Given the description of an element on the screen output the (x, y) to click on. 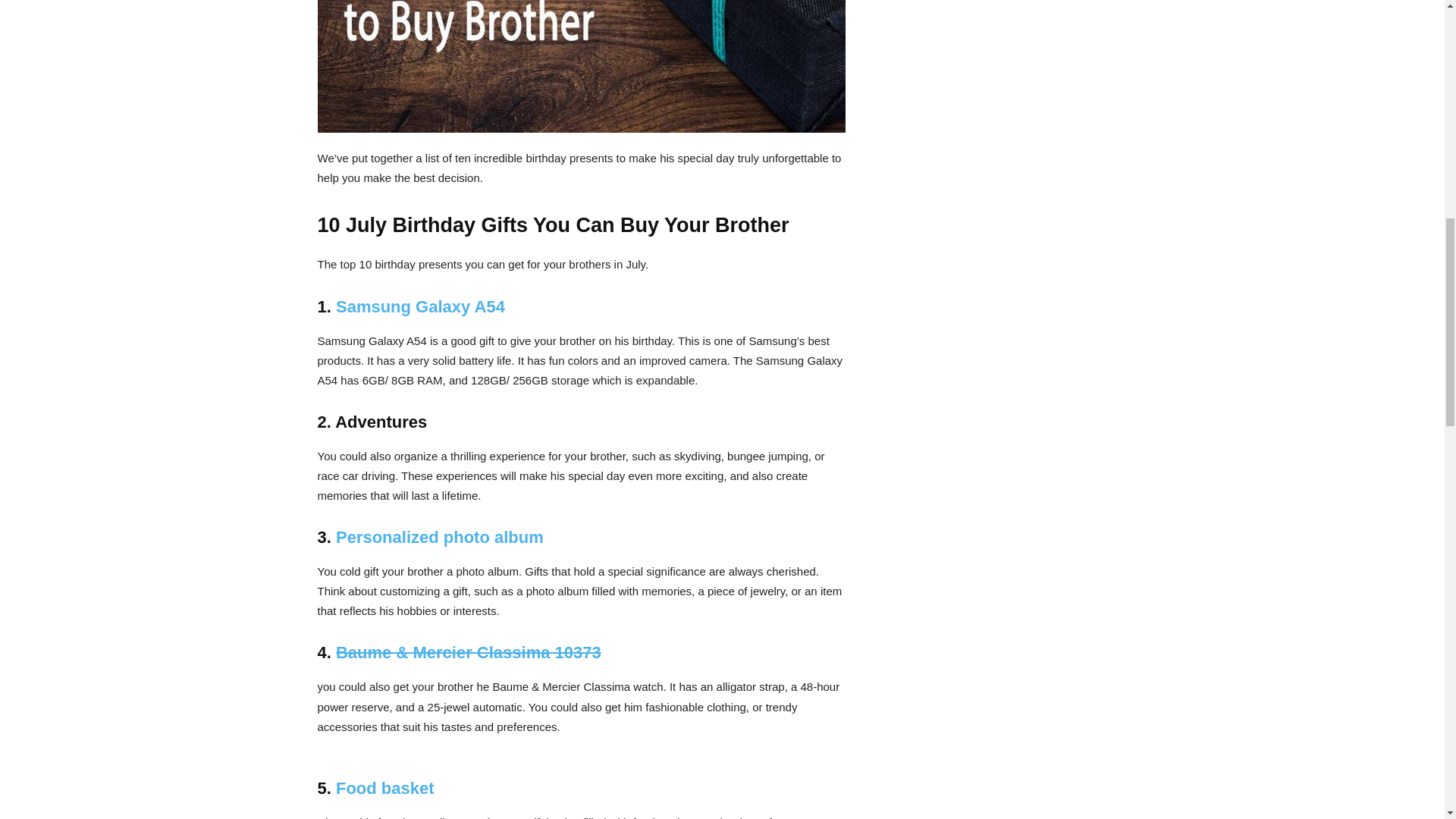
Food basket (384, 787)
Samsung Galaxy A54 (420, 306)
Personalized photo album (439, 537)
